Given the description of an element on the screen output the (x, y) to click on. 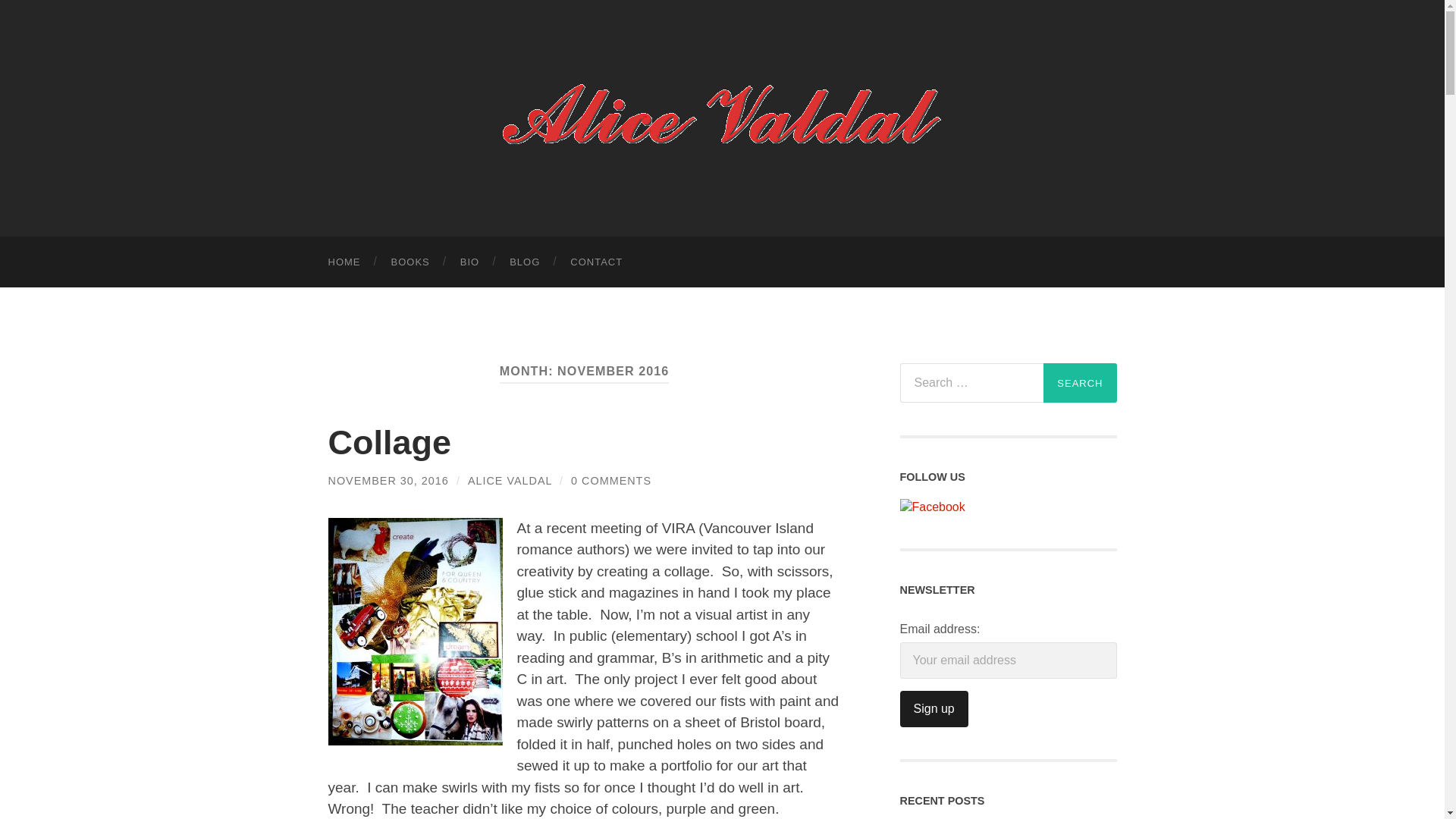
Posts by Alice Valdal (509, 480)
CONTACT (595, 261)
Sign up (933, 709)
NOVEMBER 30, 2016 (387, 480)
0 COMMENTS (610, 480)
BIO (470, 261)
Collage (389, 442)
Alice Valdal (722, 116)
Search (1079, 382)
HOME (344, 261)
